Given the description of an element on the screen output the (x, y) to click on. 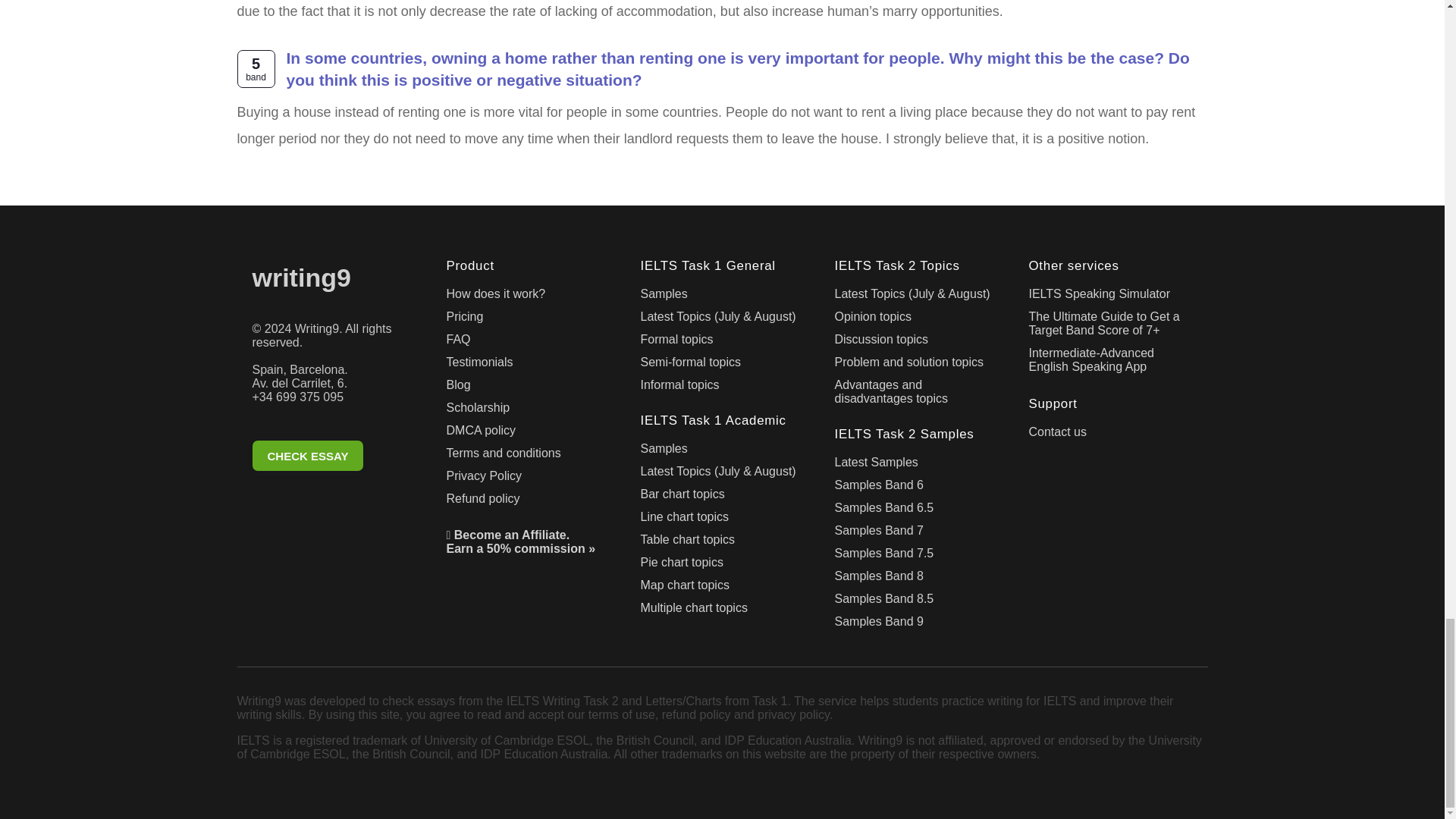
writing9 (332, 280)
Testimonials (527, 364)
IELTS Task 1 General Formal topics (721, 342)
IELTS Task 2 Latest Samples (915, 465)
Blog (527, 387)
IELTS Task 2 Problem and solution topics (915, 364)
IELTS Task 1 Academic Table chart topics (721, 542)
Pricing (527, 319)
CHECK ESSAY (306, 455)
IELTS Task 1 Academic Pie chart topics (721, 565)
IELTS Task 1 General Informal topics (721, 387)
IELTS Task 2 Opinion topics (915, 319)
IELTS Task 1 Academic Bar chart topics (721, 497)
CHECK ESSAY (332, 458)
IELTS Task 2 Advantages and disadvantages topics (915, 394)
